Given the description of an element on the screen output the (x, y) to click on. 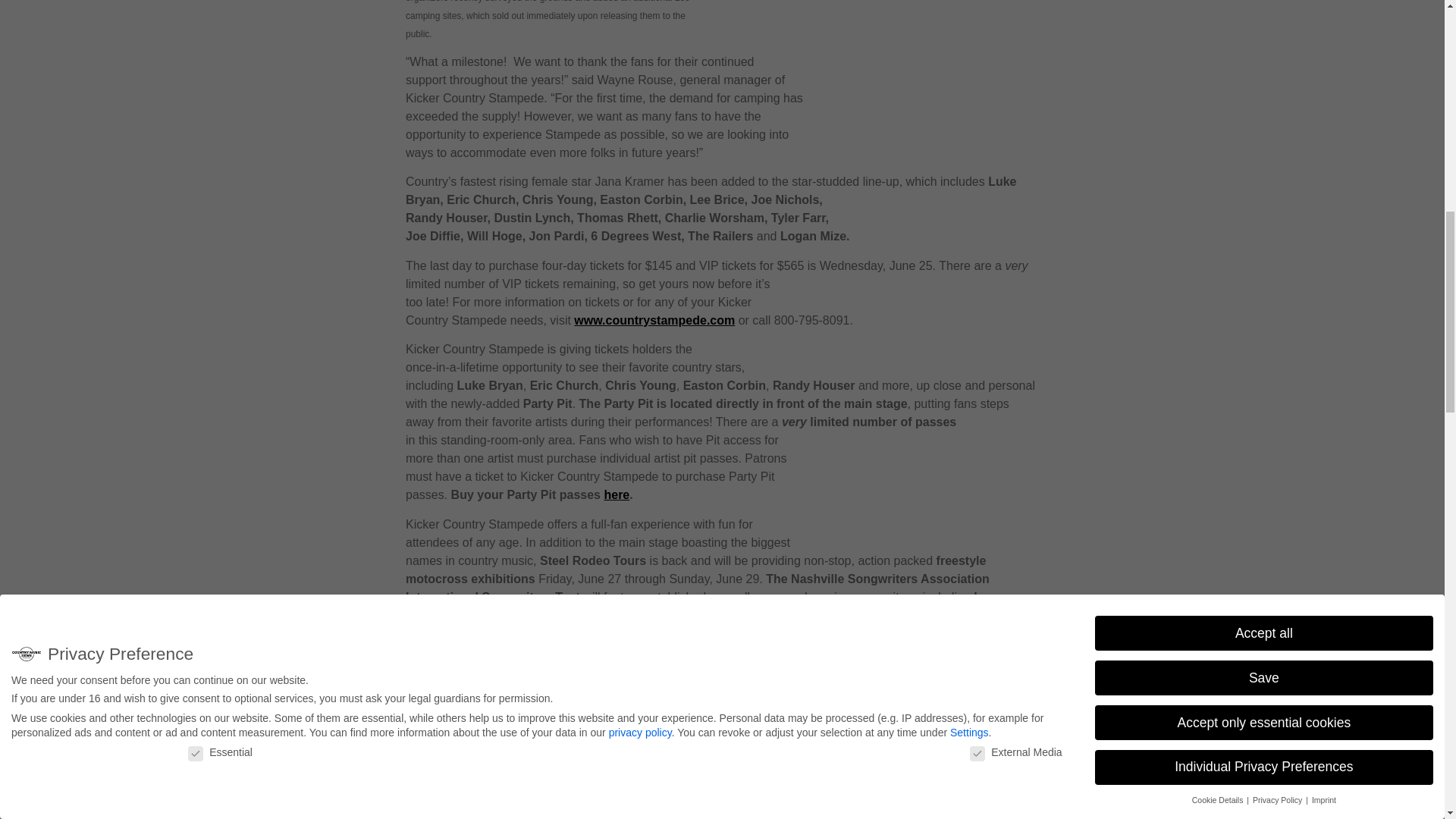
here (616, 494)
www.countrystampede.com (654, 319)
